Given the description of an element on the screen output the (x, y) to click on. 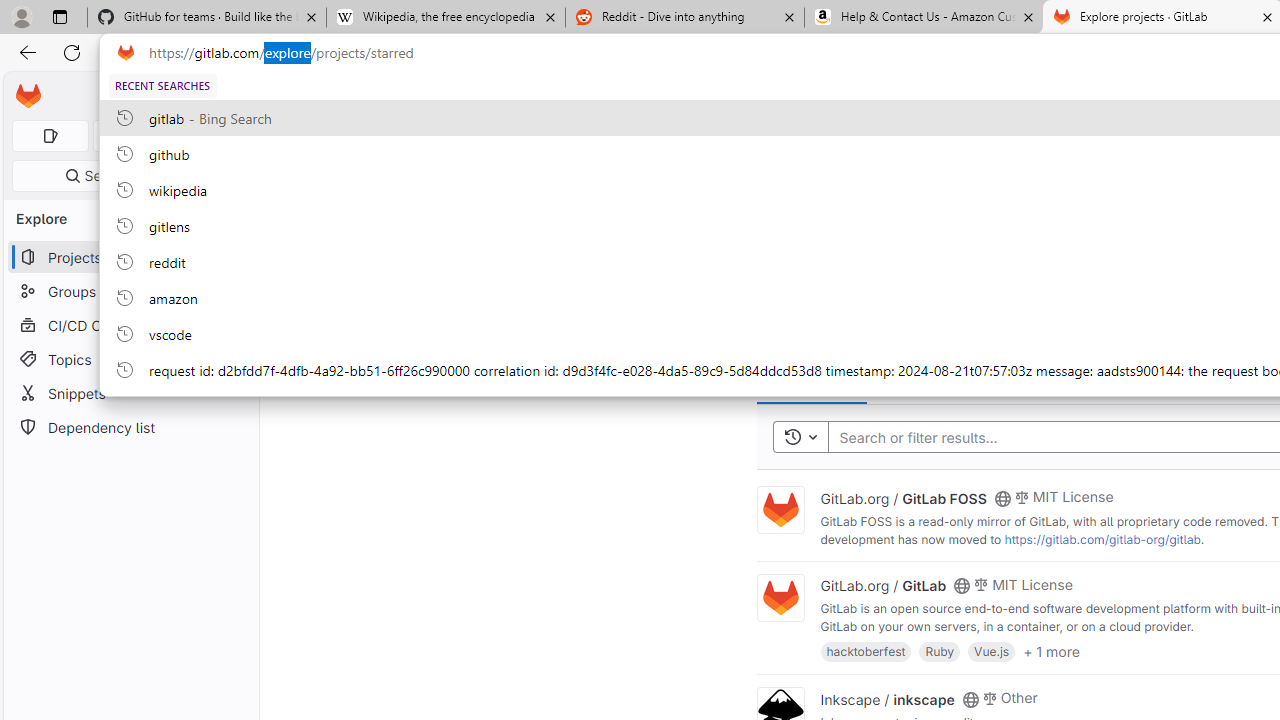
Dependency list (130, 427)
Vue.js (991, 650)
Most starred (811, 379)
CI/CD Catalog (130, 325)
Primary navigation sidebar (167, 96)
To-Do list 0 (212, 136)
Class: s14 gl-mr-2 (989, 696)
Explore (305, 95)
GitLab.org / GitLab (883, 585)
Help & Contact Us - Amazon Customer Service (924, 17)
Ruby (940, 650)
Topics (130, 358)
